Given the description of an element on the screen output the (x, y) to click on. 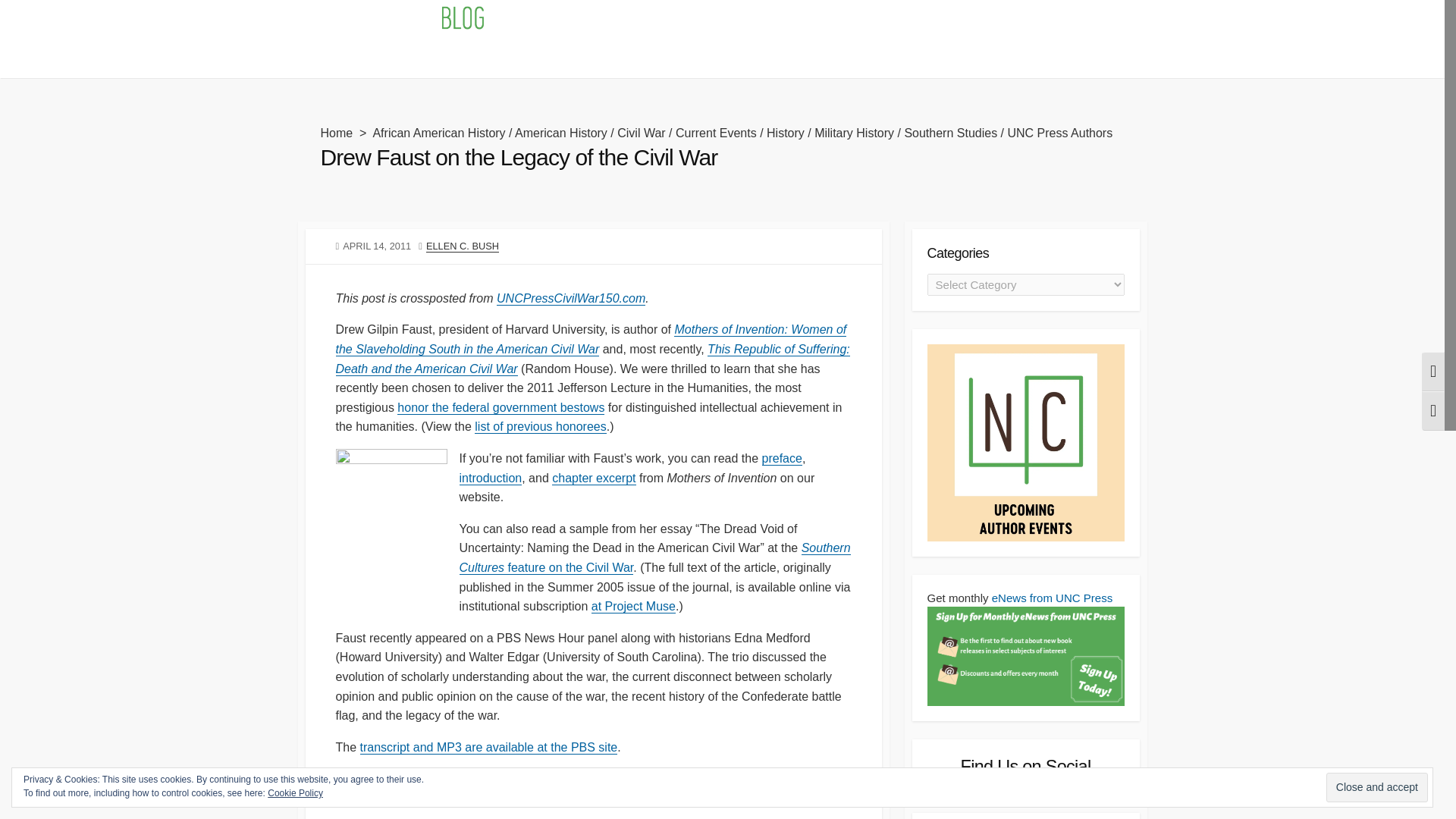
ELLEN C. BUSH (462, 245)
Military History (853, 132)
African American History (438, 132)
History (786, 132)
Civil War (641, 132)
at Project Muse (633, 605)
Award Winners (665, 58)
list of previous honorees (539, 426)
Home (336, 132)
Southern Cultures feature on the Civil War (655, 557)
UNCPressCivilWar150.com (570, 297)
UNC Press Blog (399, 20)
UNC Press Authors (1059, 132)
Blog Home (334, 58)
